Given the description of an element on the screen output the (x, y) to click on. 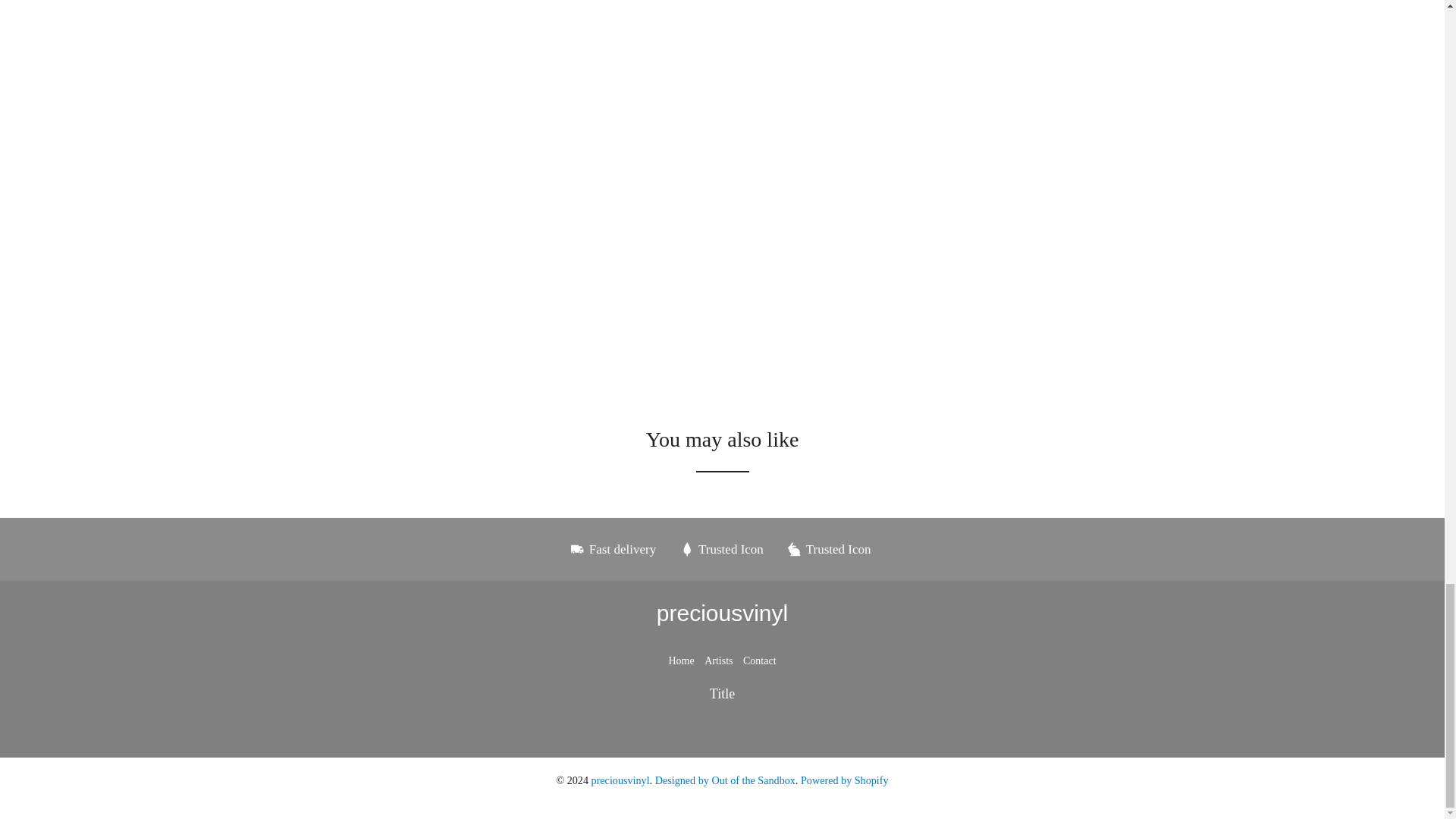
preciousvinyl (721, 612)
Powered by Shopify (844, 779)
Home (681, 660)
Flex Shopify Theme by Out of the Sandbox (724, 779)
Contact (759, 660)
Designed by Out of the Sandbox (724, 779)
preciousvinyl (721, 612)
preciousvinyl (620, 779)
Artists (718, 660)
